Given the description of an element on the screen output the (x, y) to click on. 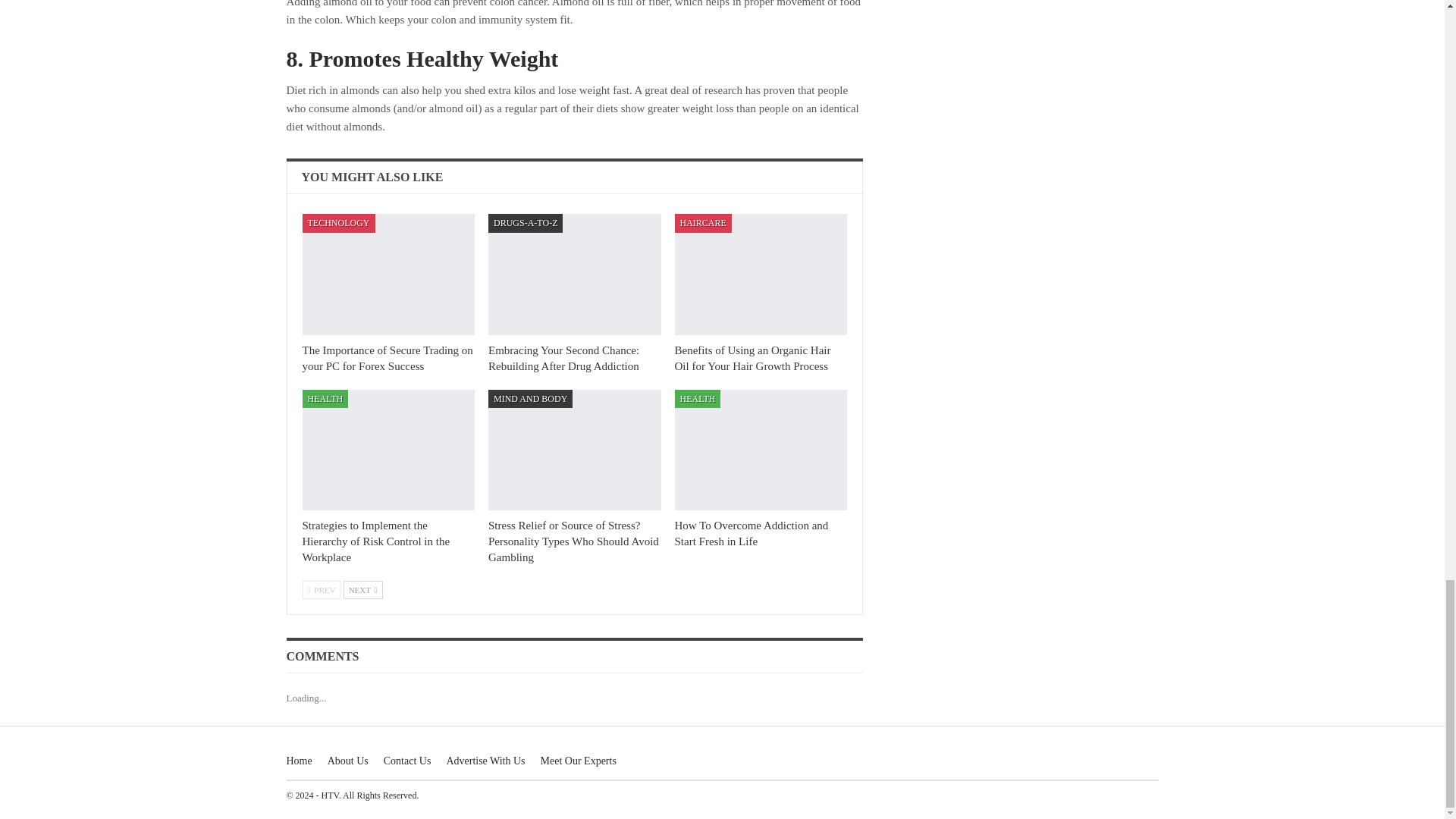
Homepage (299, 760)
Contact us (407, 760)
About us (347, 760)
Previous (320, 589)
Next (362, 589)
How To Overcome Addiction and Start Fresh in Life (751, 533)
